Given the description of an element on the screen output the (x, y) to click on. 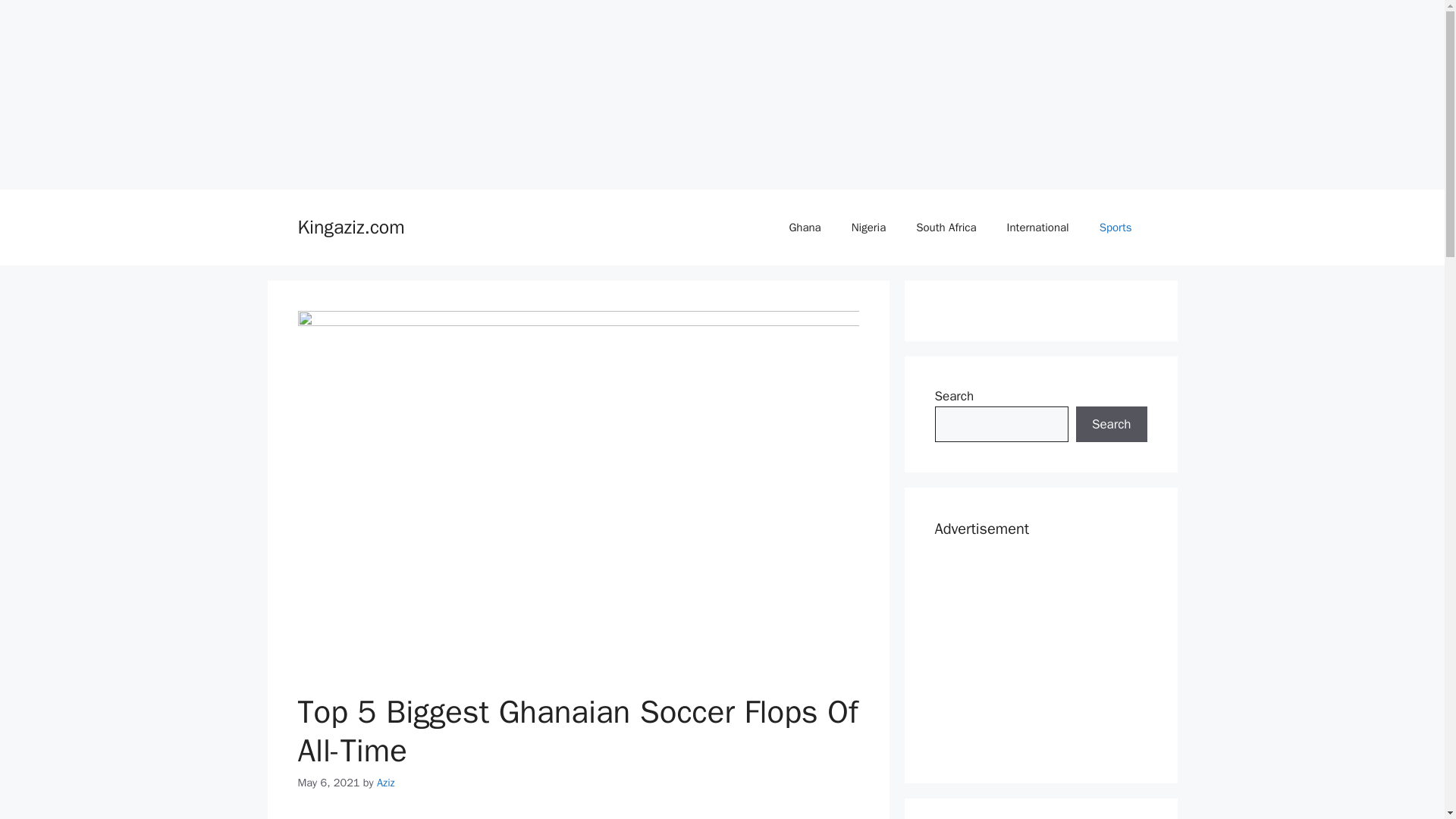
International (1037, 227)
Aziz (385, 782)
Sports (1115, 227)
Search (1111, 424)
View all posts by Aziz (385, 782)
Ghana (804, 227)
Kingaziz.com (350, 227)
Nigeria (868, 227)
South Africa (946, 227)
